Given the description of an element on the screen output the (x, y) to click on. 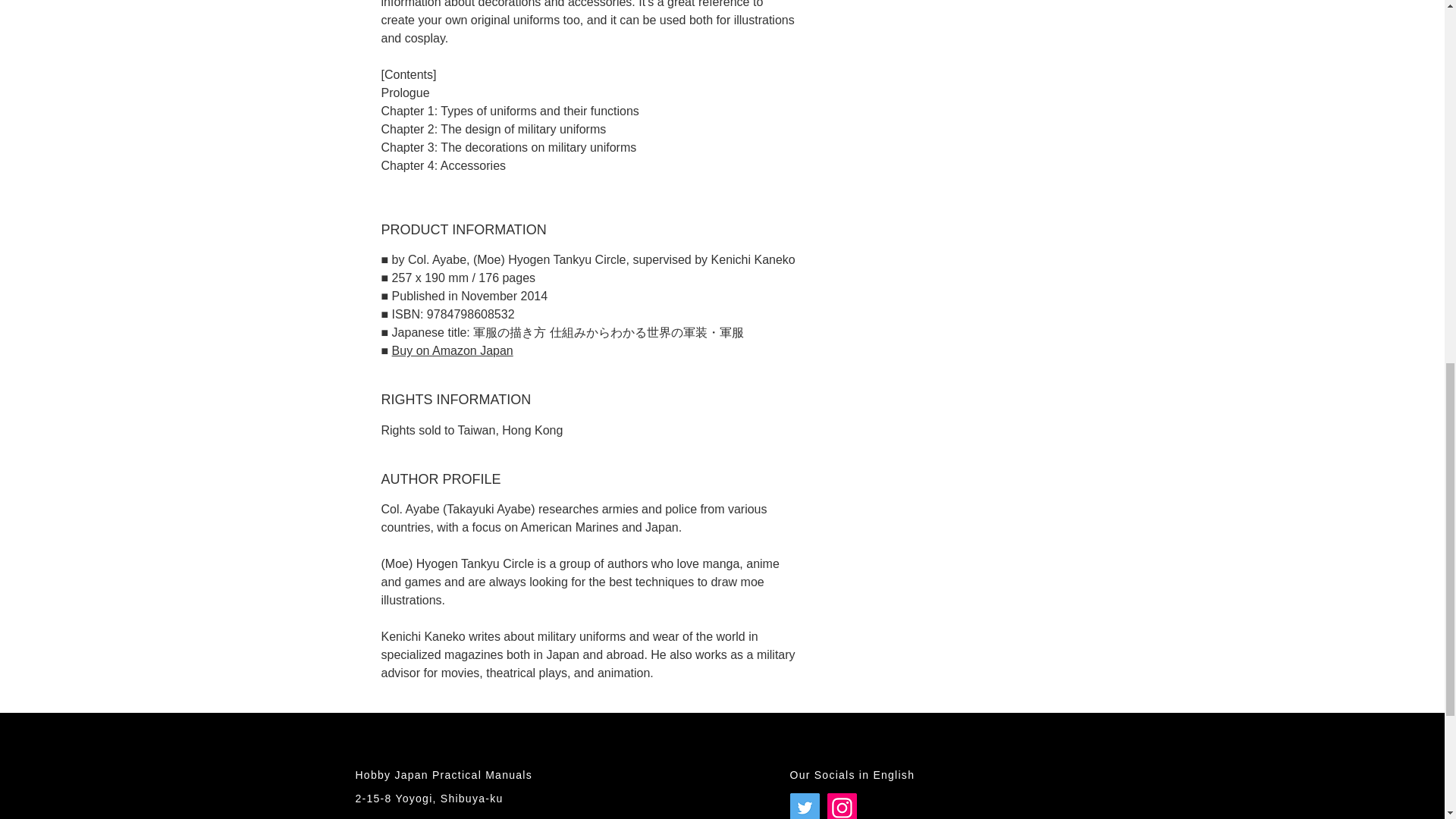
Buy on Amazon Japan (452, 350)
